Given the description of an element on the screen output the (x, y) to click on. 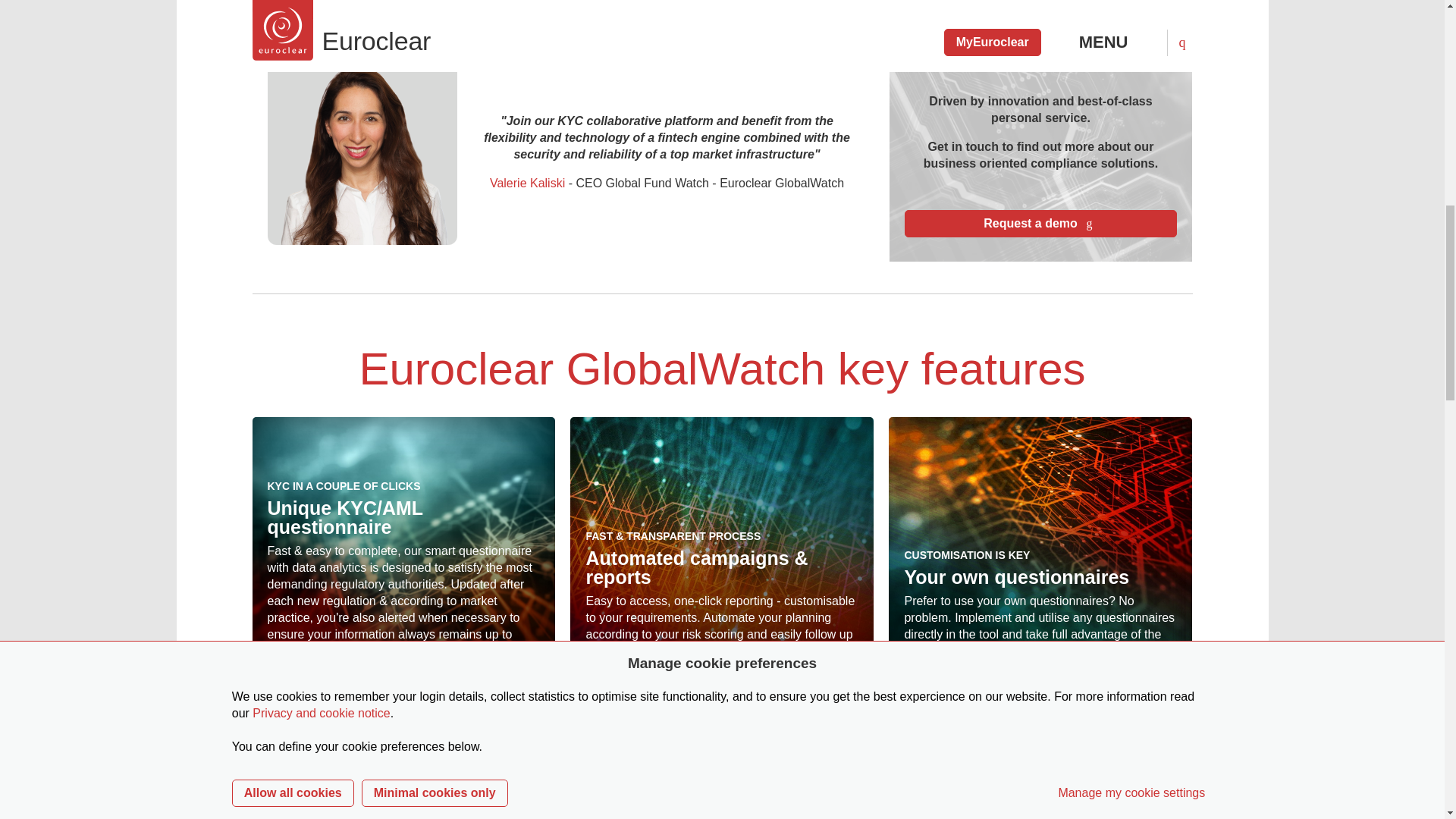
Request a demo (1040, 223)
Valerie Kaliski (526, 182)
